Given the description of an element on the screen output the (x, y) to click on. 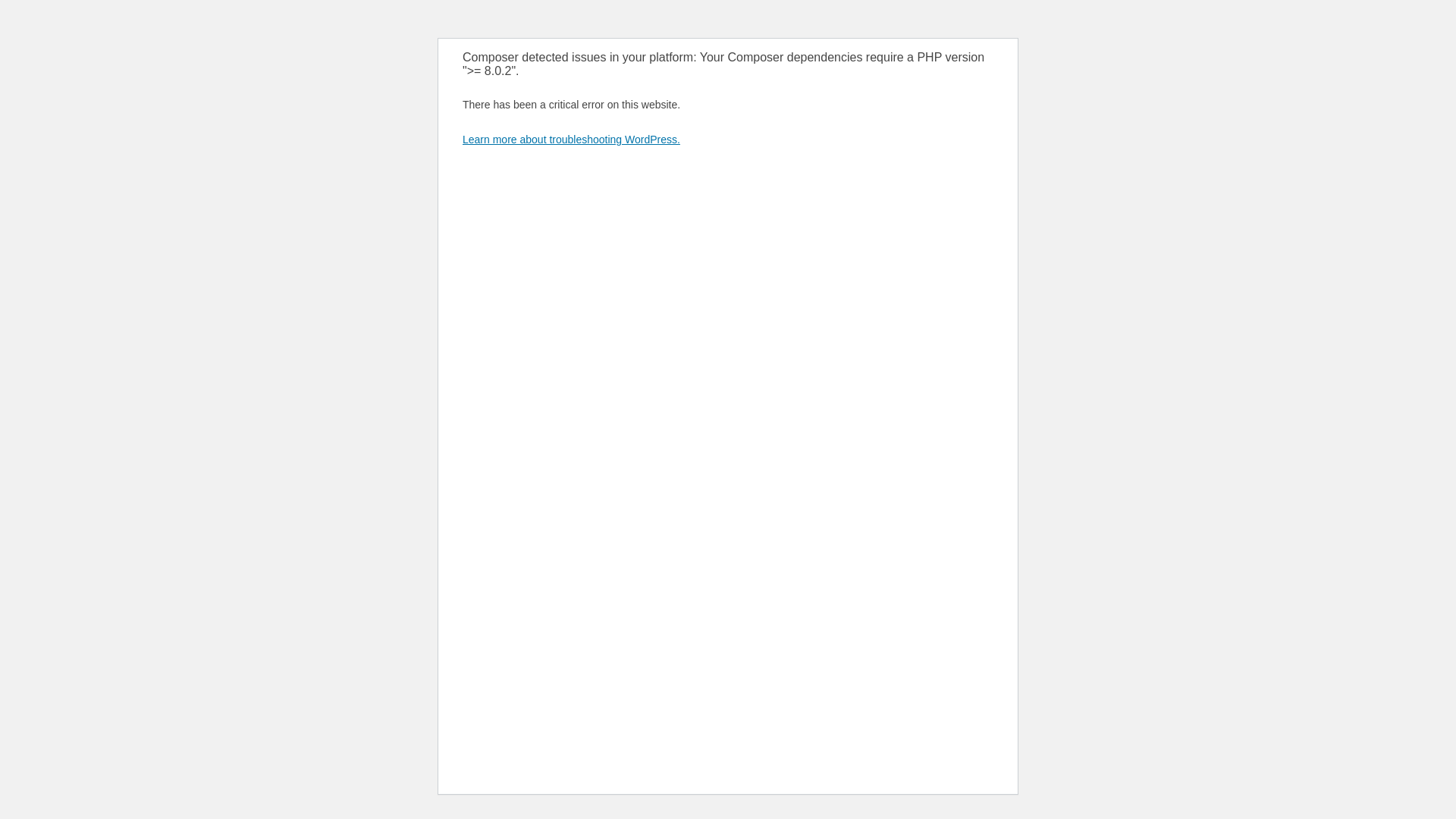
Learn more about troubleshooting WordPress. (571, 139)
